Given the description of an element on the screen output the (x, y) to click on. 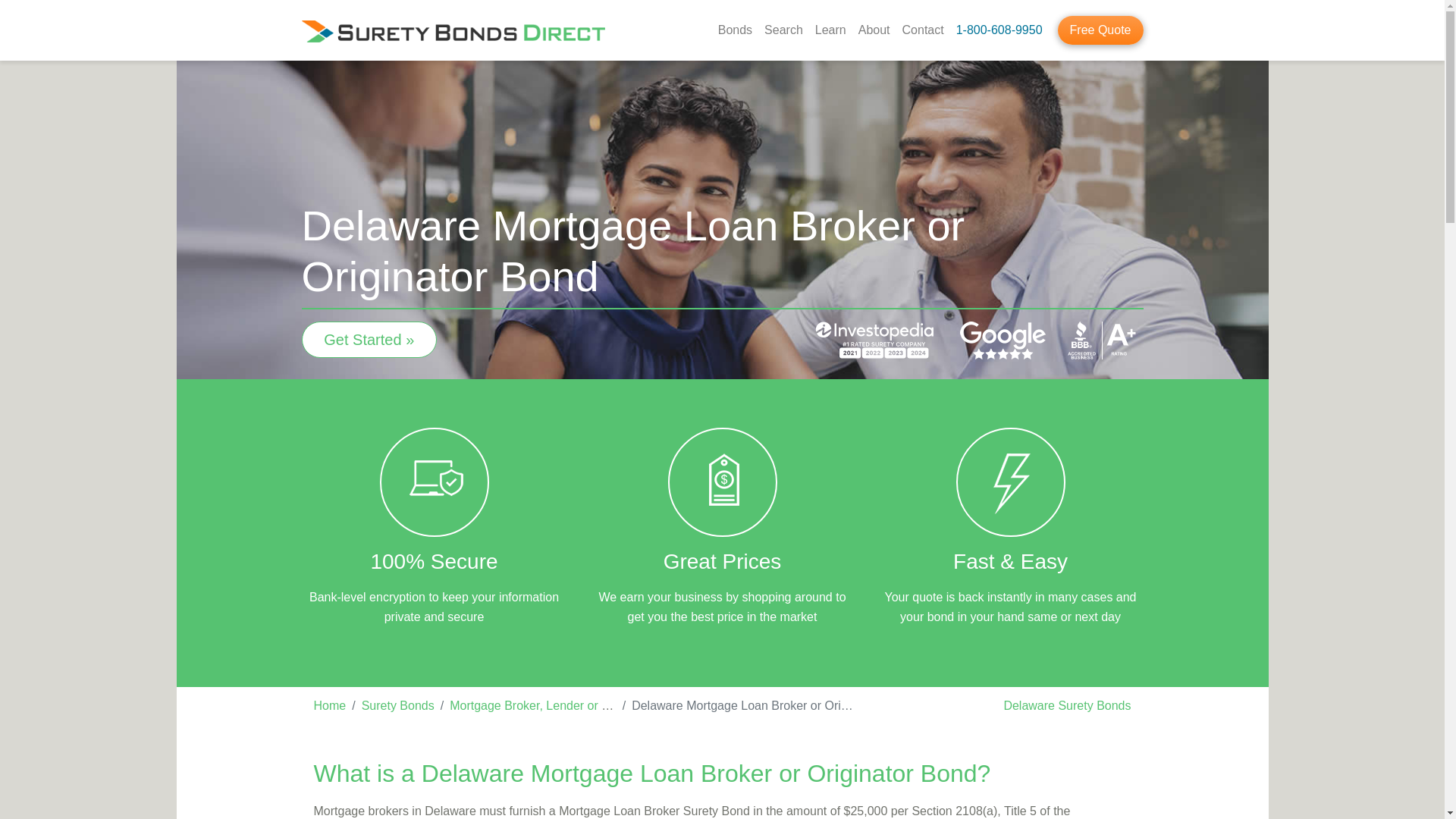
Mortgage Broker, Lender or Other Industry Bonds (582, 705)
Free Quote (1100, 30)
Home (330, 705)
Search (783, 30)
Bonds (734, 30)
Surety Bonds (397, 705)
About (873, 30)
Delaware Surety Bonds (1067, 705)
Learn (830, 30)
Contact (923, 30)
1-800-608-9950 (999, 30)
